Given the description of an element on the screen output the (x, y) to click on. 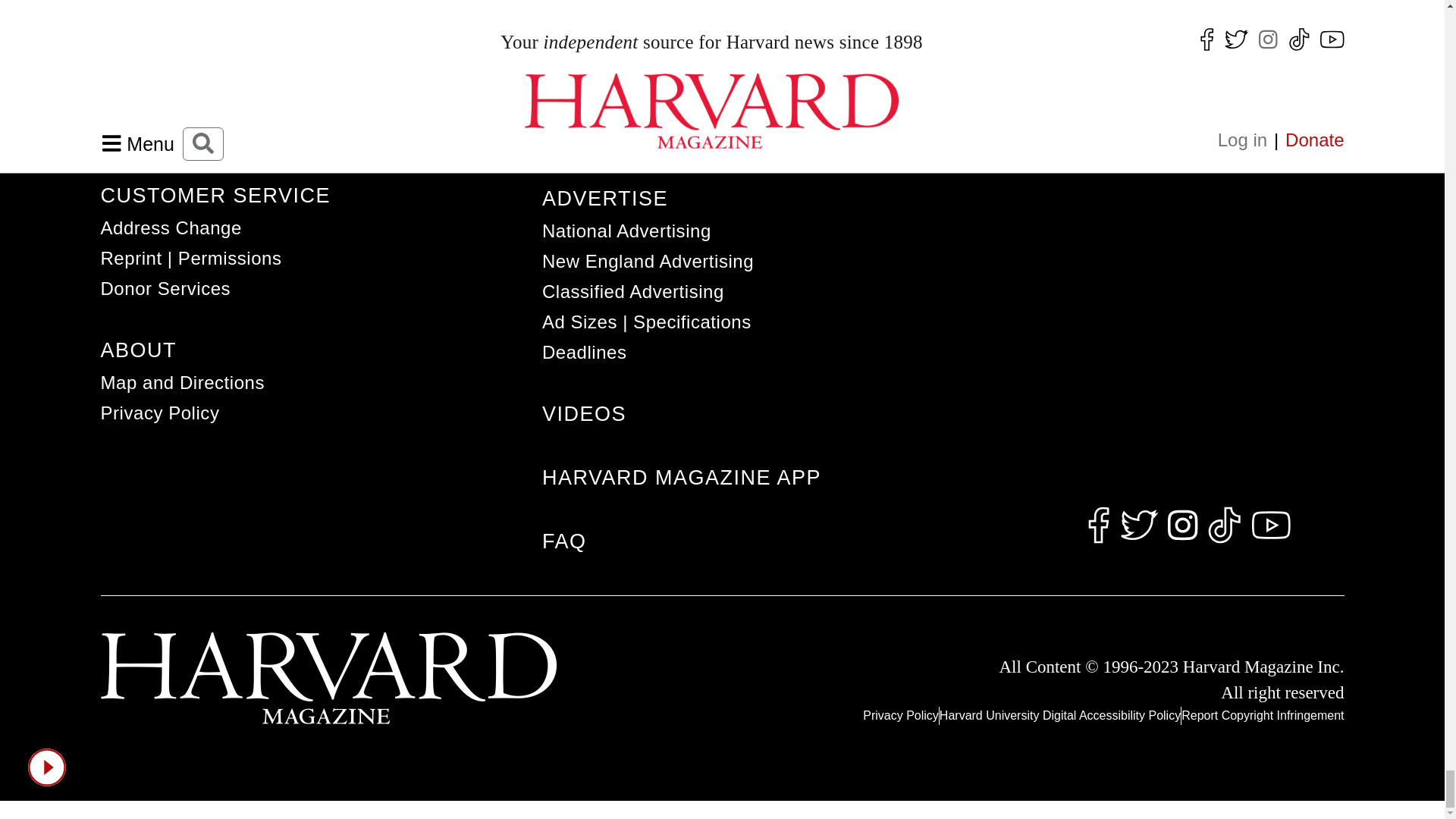
facebook (1098, 525)
